Given the description of an element on the screen output the (x, y) to click on. 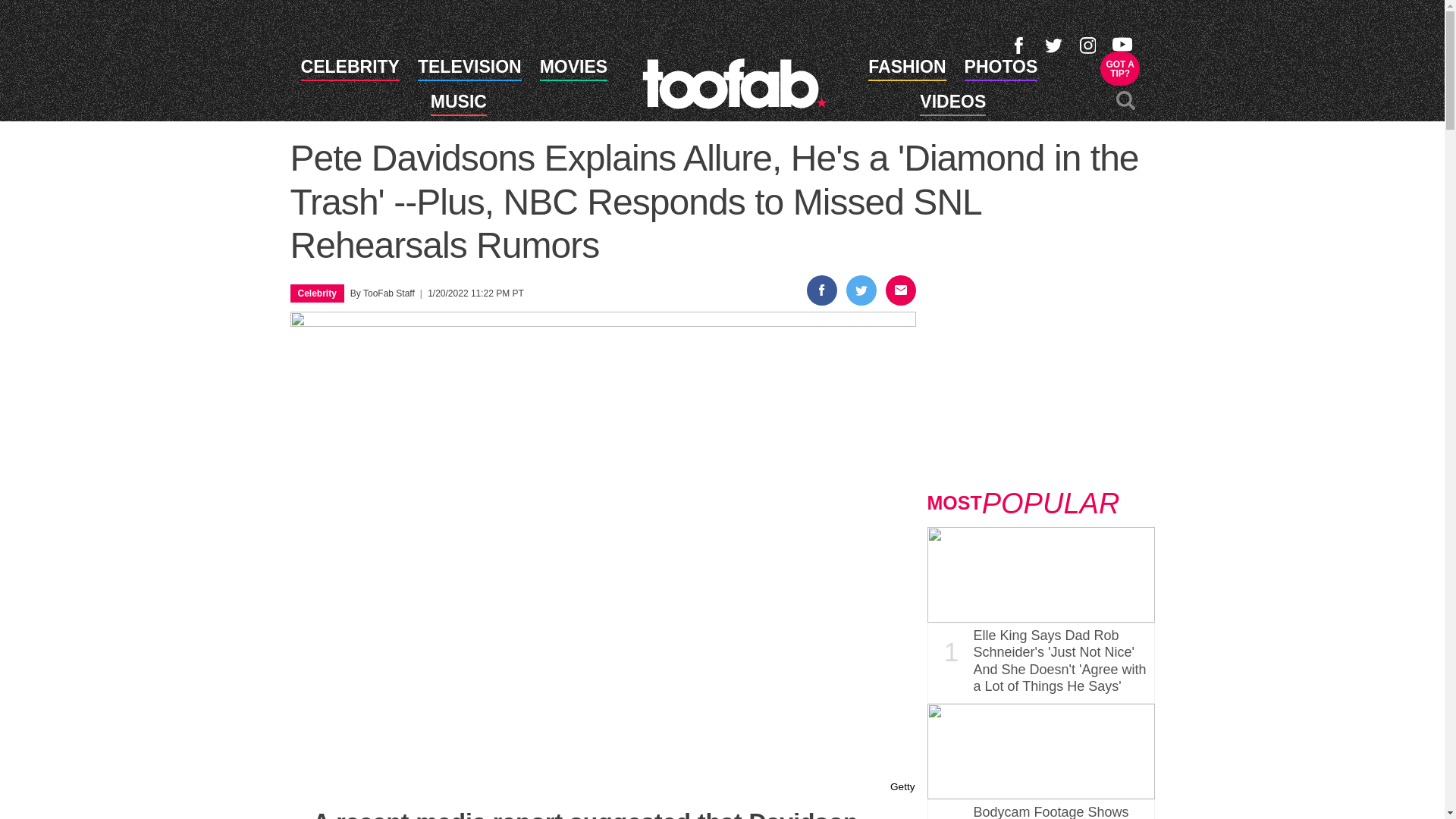
MOVIES (1120, 68)
CELEBRITY (573, 69)
FASHION (349, 69)
MUSIC (905, 69)
Celebrity (458, 104)
VIDEOS (316, 293)
PHOTOS (952, 104)
toofab (1000, 69)
TELEVISION (734, 82)
